Given the description of an element on the screen output the (x, y) to click on. 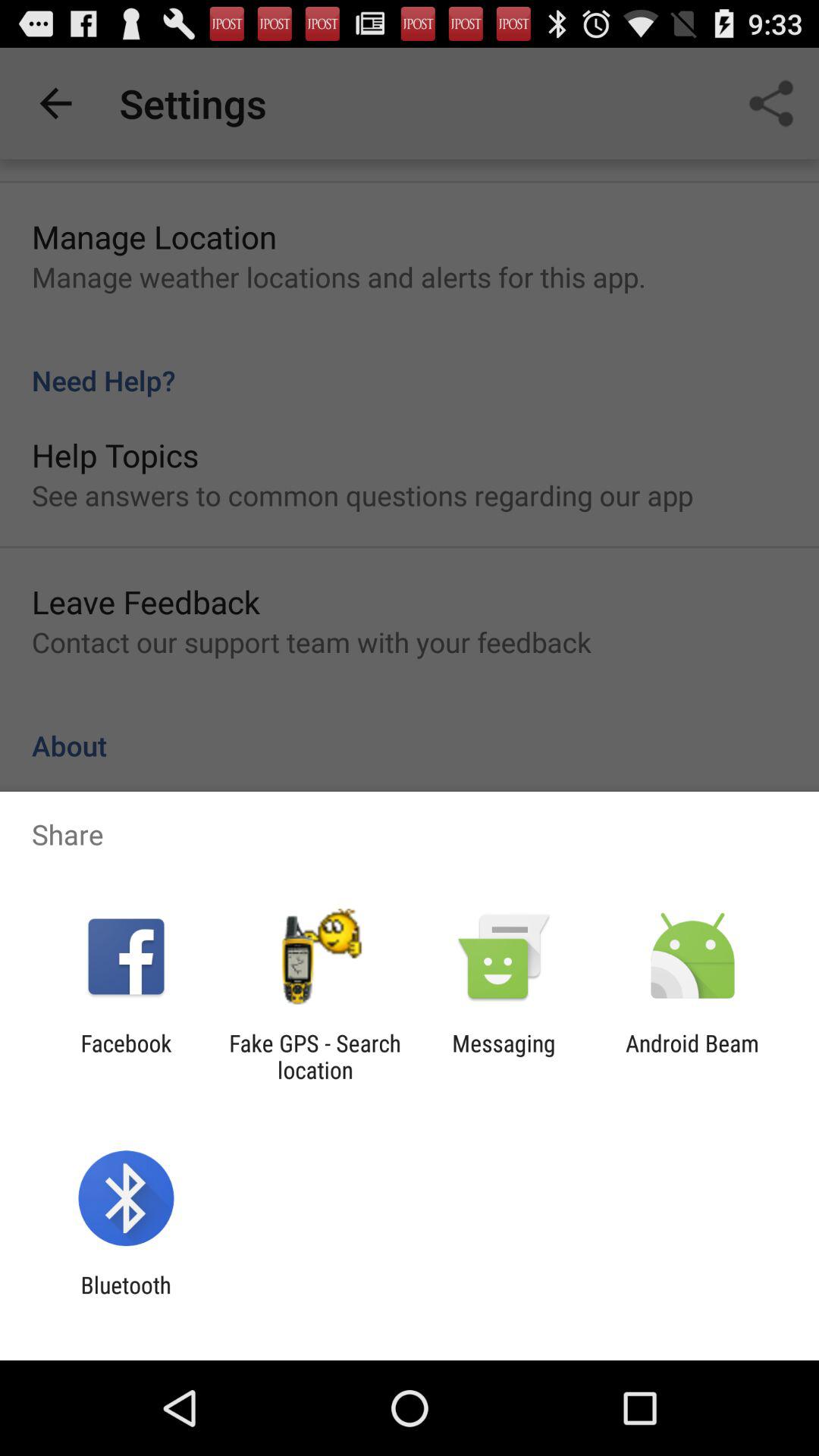
launch the android beam item (692, 1056)
